Given the description of an element on the screen output the (x, y) to click on. 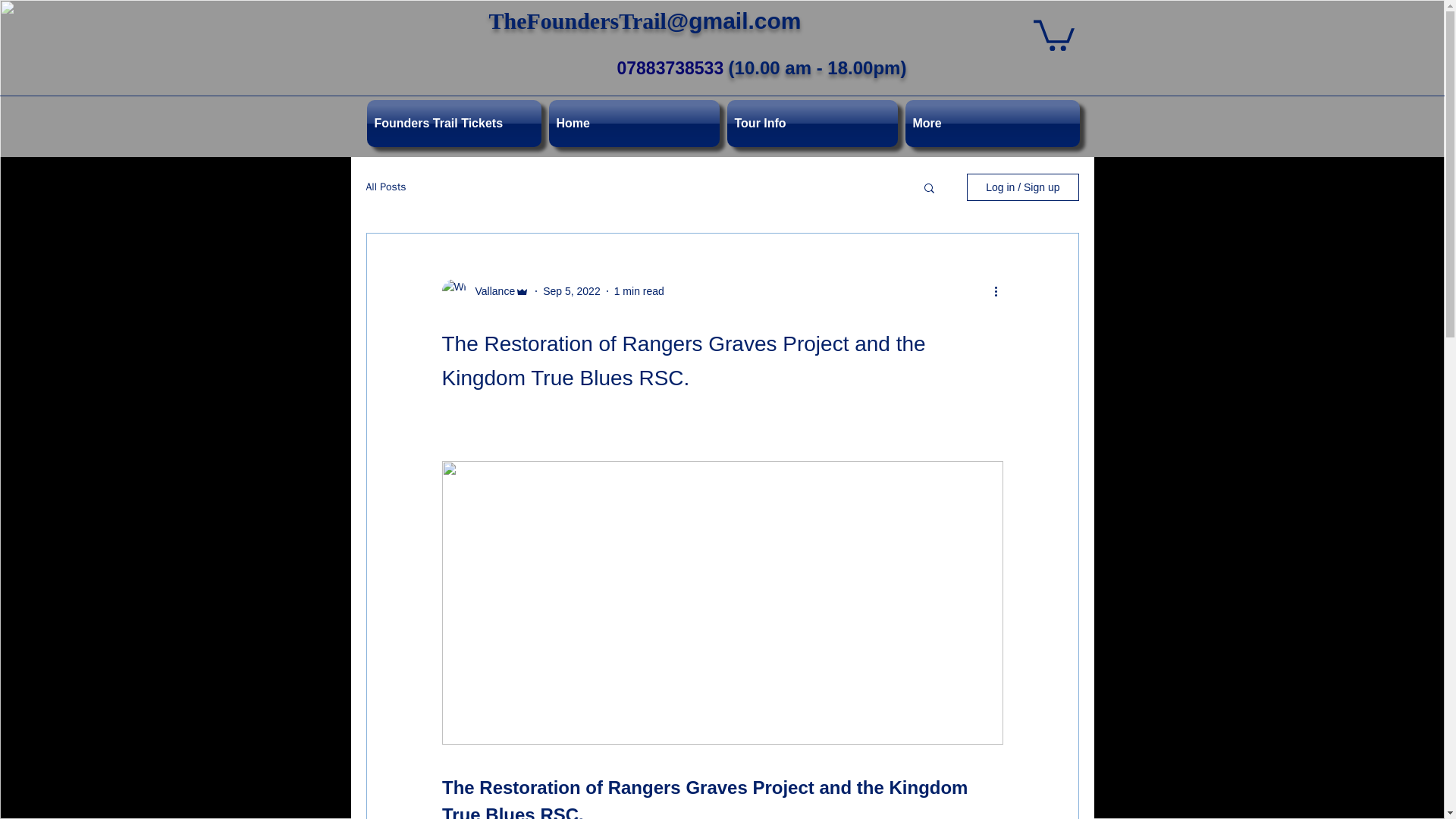
Home (633, 123)
Sep 5, 2022 (571, 291)
1 min read (638, 291)
Vallance (490, 291)
All Posts (385, 187)
Founders Trail Tickets (455, 123)
Tour Info (812, 123)
